Given the description of an element on the screen output the (x, y) to click on. 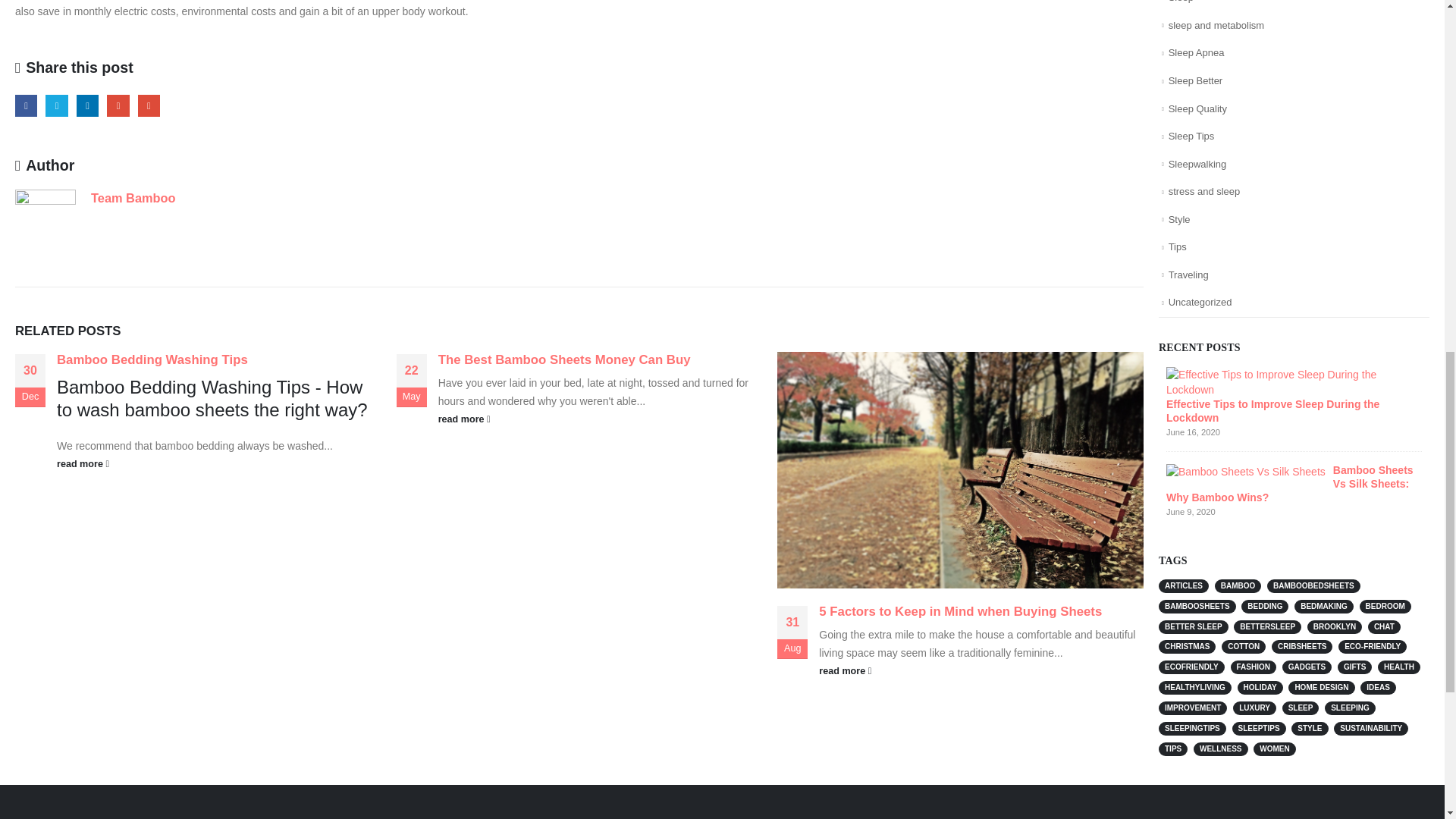
LinkedIn (88, 106)
LinkedIn (88, 106)
Team Bamboo (133, 197)
Email (149, 106)
Twitter (55, 106)
read more (600, 419)
The Best Bamboo Sheets Money Can Buy (564, 359)
Facebook (25, 106)
Facebook (25, 106)
Twitter (55, 106)
Bamboo Bedding Washing Tips (151, 359)
read more (218, 464)
